Given the description of an element on the screen output the (x, y) to click on. 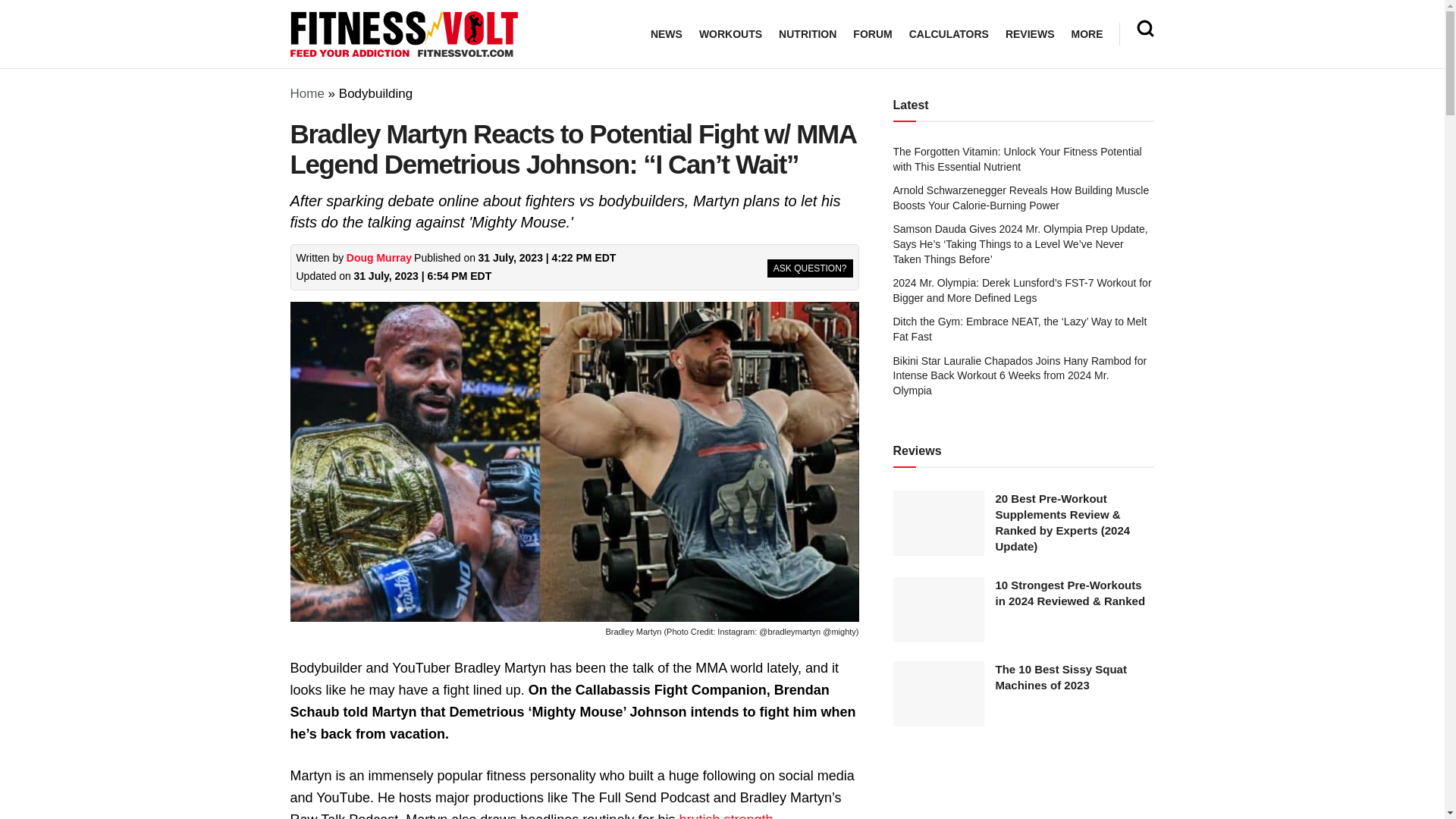
MORE (1086, 34)
FORUM (872, 34)
NEWS (666, 34)
CALCULATORS (948, 34)
REVIEWS (1030, 34)
WORKOUTS (729, 34)
NUTRITION (806, 34)
